Given the description of an element on the screen output the (x, y) to click on. 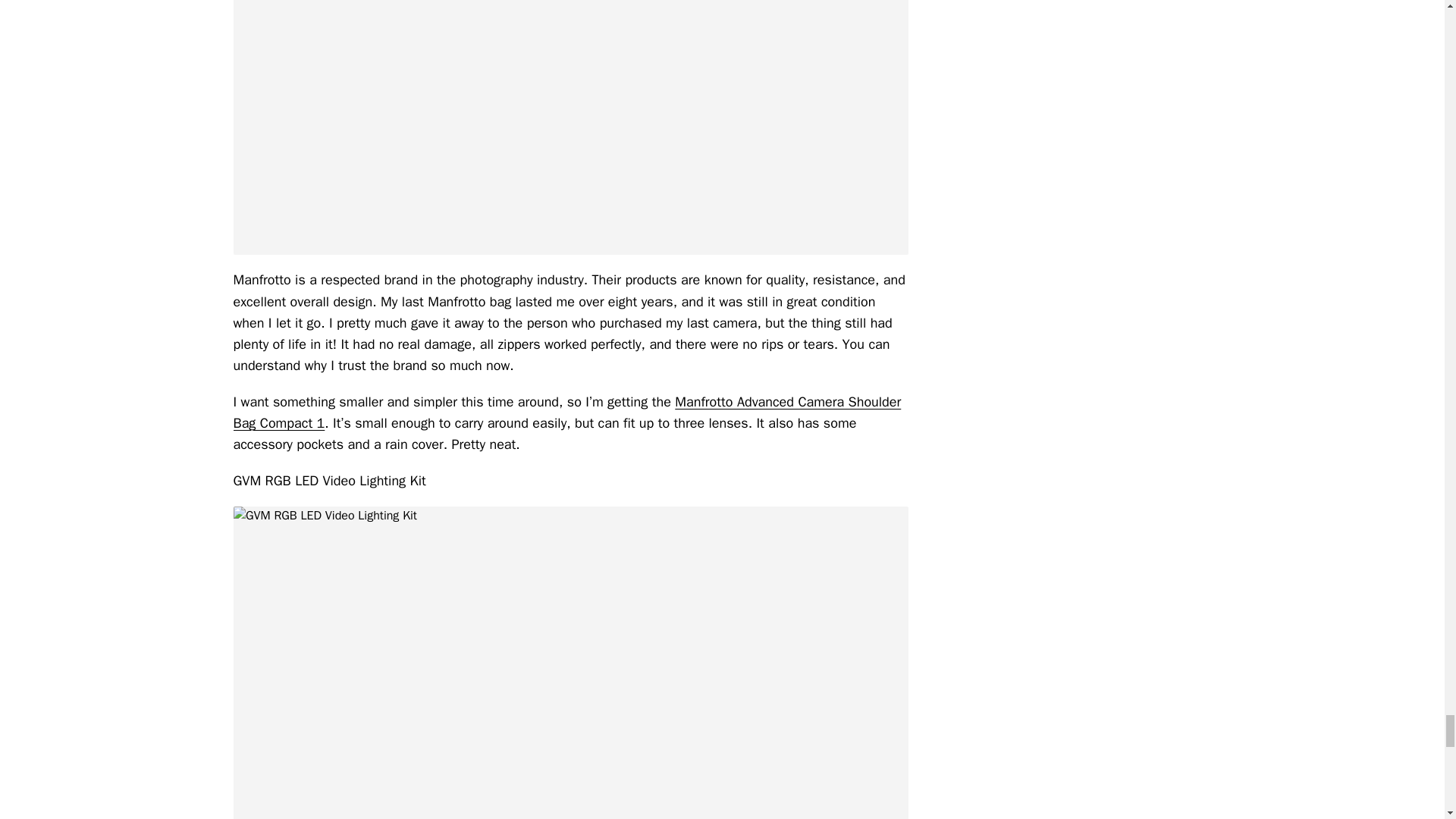
Manfrotto Advanced Camera Shoulder Bag Compact 1 (566, 412)
